Given the description of an element on the screen output the (x, y) to click on. 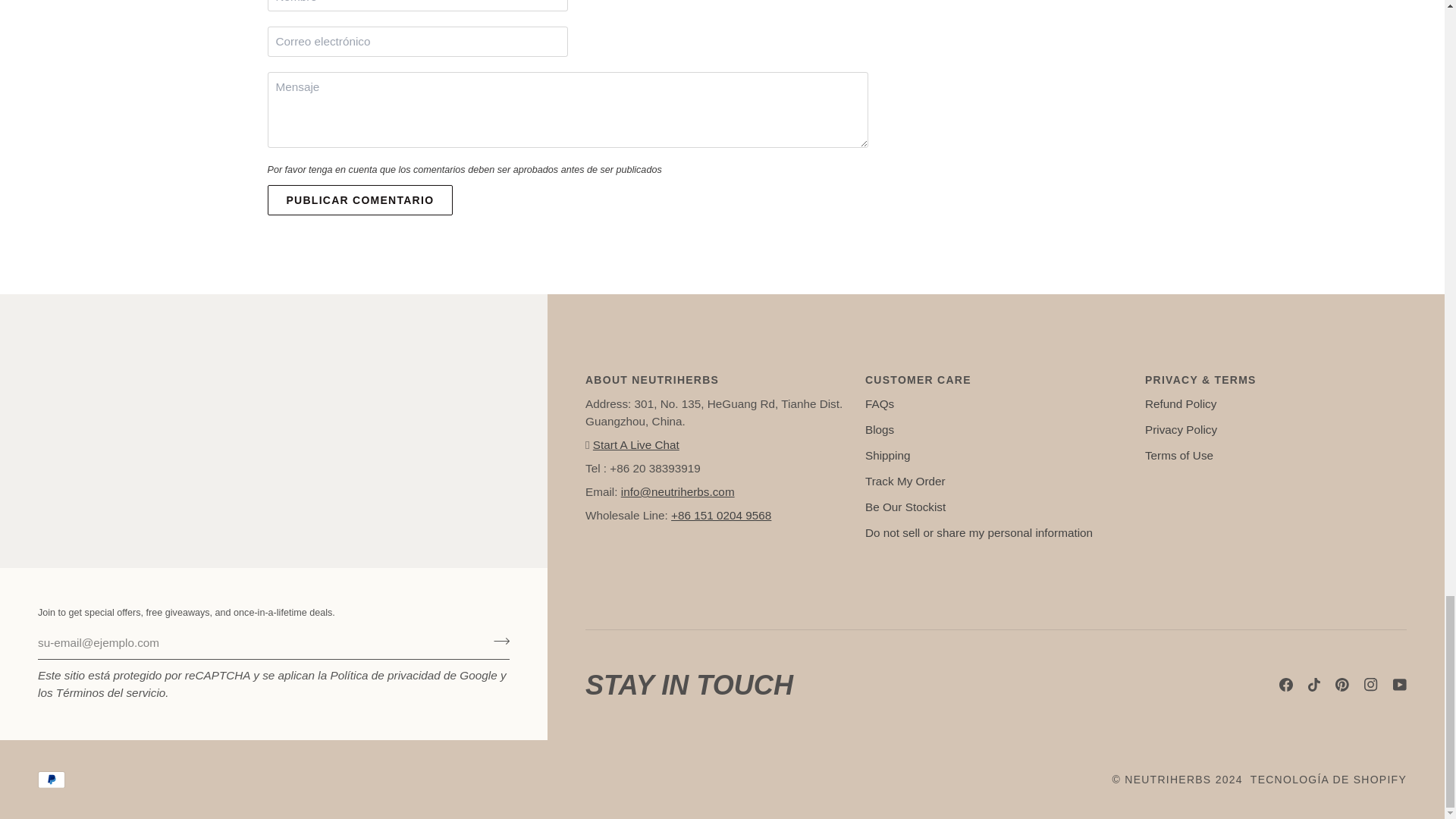
Facebook (1285, 684)
Instagram (1370, 684)
Pinterest (1342, 684)
YouTube (1399, 684)
PAYPAL (51, 779)
